Given the description of an element on the screen output the (x, y) to click on. 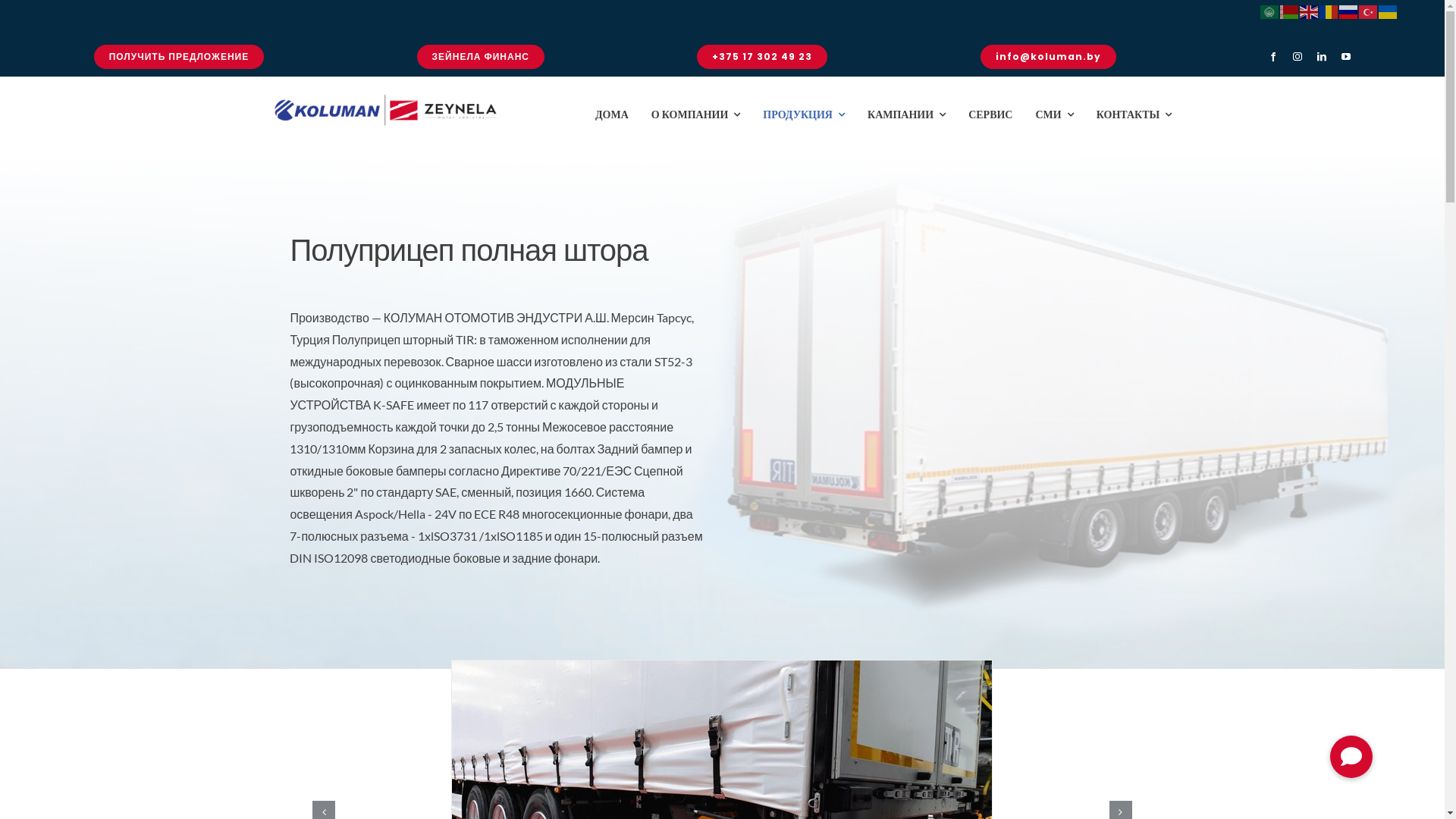
info@koluman.by Element type: text (1048, 56)
English Element type: hover (1309, 10)
Ukrainian Element type: hover (1388, 10)
+375 17 302 49 23 Element type: text (761, 56)
Belarusian Element type: hover (1289, 10)
Russian Element type: hover (1348, 10)
Turkish Element type: hover (1368, 10)
Romanian Element type: hover (1329, 10)
Arabic Element type: hover (1270, 10)
